Given the description of an element on the screen output the (x, y) to click on. 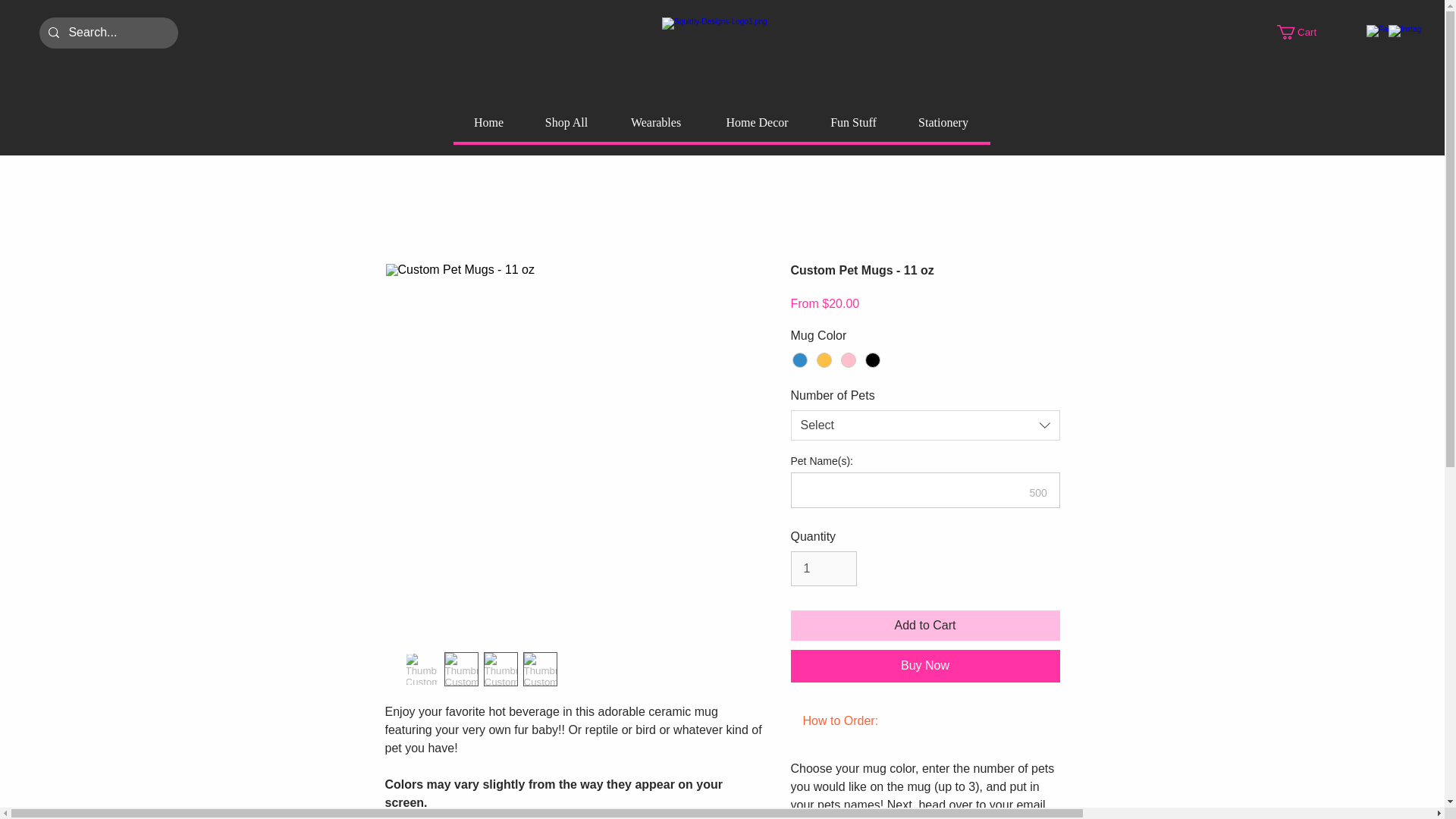
Shop All (566, 122)
1 (823, 568)
Home Decor (756, 122)
Wearables (655, 122)
Use right and left arrows to navigate between tabs (840, 720)
Buy Now (924, 665)
Cart (1304, 32)
Home (488, 122)
Add to Cart (924, 625)
Select (924, 425)
Cart (1304, 32)
Stationery (943, 122)
Fun Stuff (852, 122)
